Given the description of an element on the screen output the (x, y) to click on. 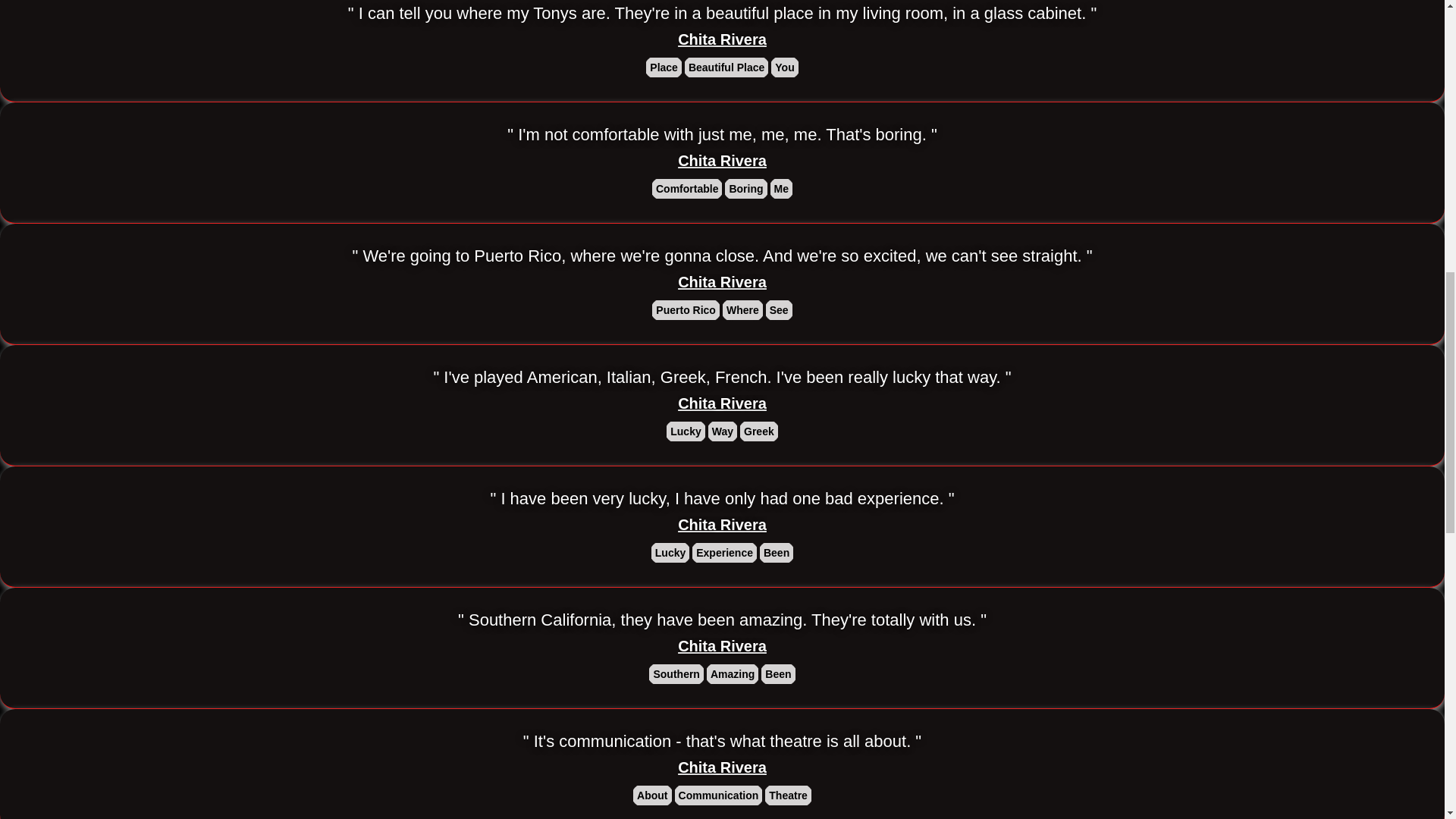
Chita Rivera (722, 160)
You (784, 67)
Beautiful Place (726, 67)
Boring (745, 188)
Me (780, 188)
Place (663, 67)
" I'm not comfortable with just me, me, me. That's boring. " (721, 134)
Chita Rivera (722, 39)
Comfortable (686, 188)
